Given the description of an element on the screen output the (x, y) to click on. 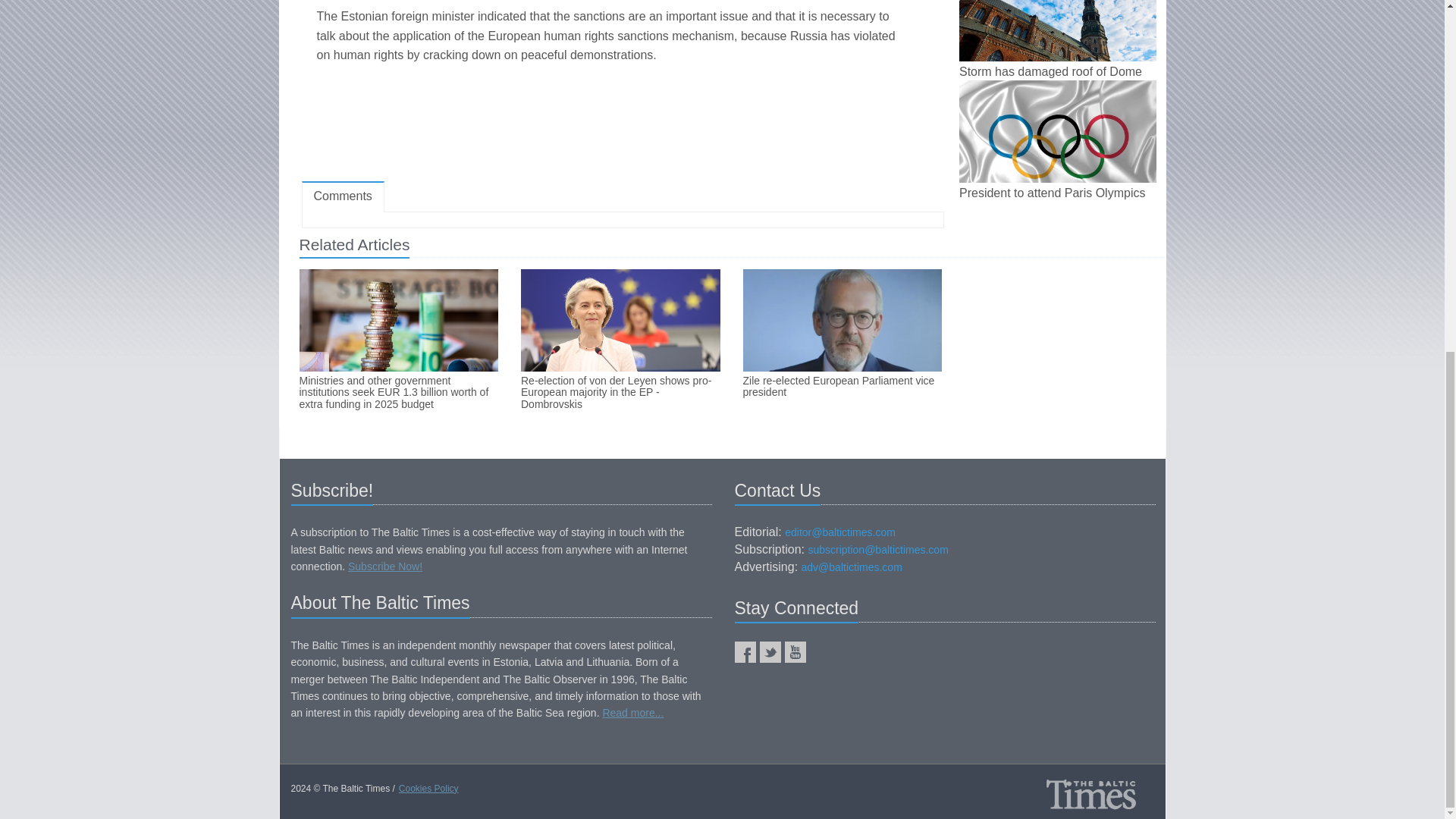
Zile re-elected European Parliament vice president (842, 386)
Advertisement (622, 125)
Comments (342, 196)
